Given the description of an element on the screen output the (x, y) to click on. 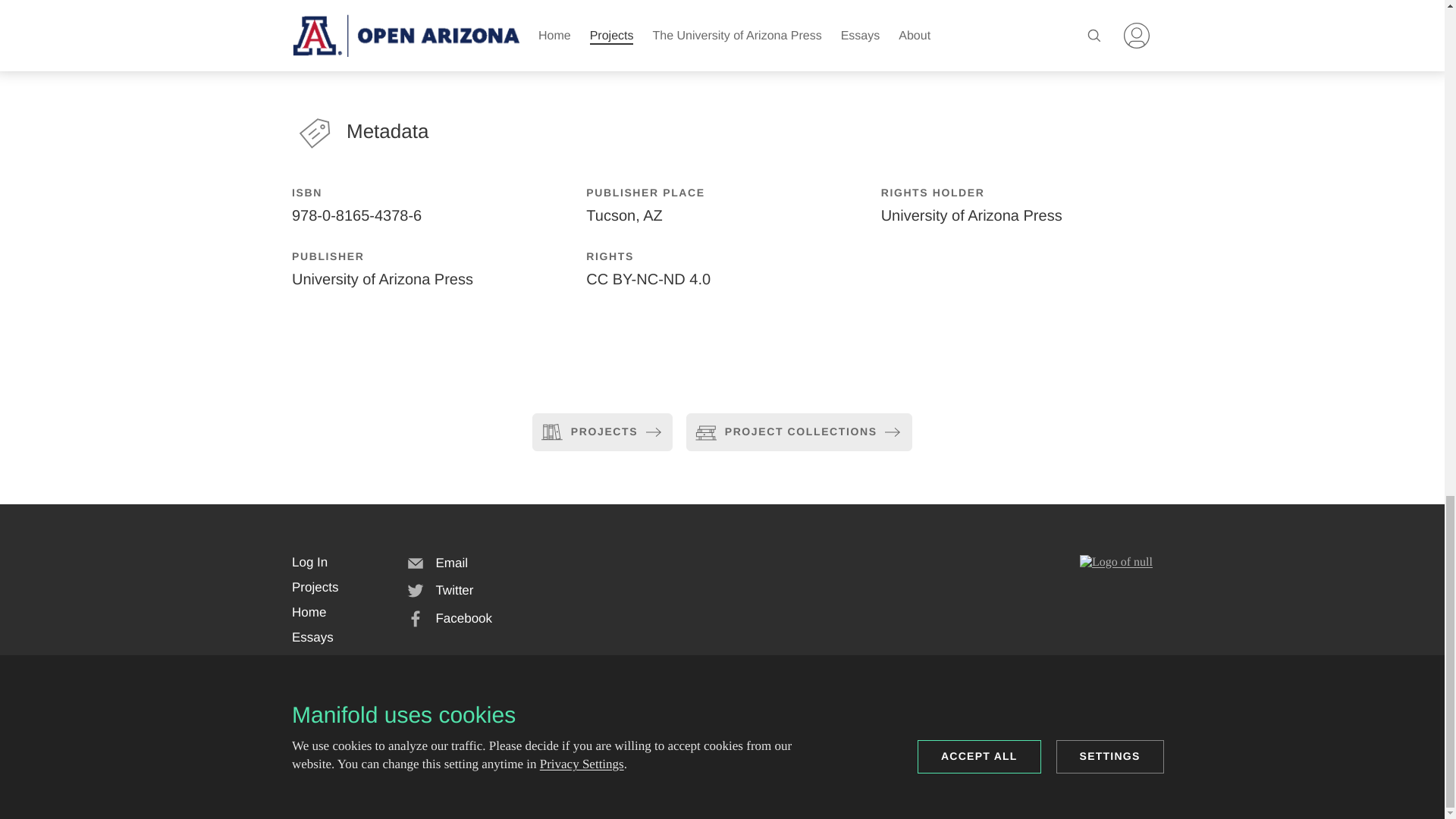
Essays (312, 637)
Search (306, 681)
PROJECT COLLECTIONS (798, 432)
Home (309, 612)
Projects (314, 587)
Twitter (439, 591)
Email (436, 564)
PROJECTS (602, 432)
Facebook (449, 619)
